Given the description of an element on the screen output the (x, y) to click on. 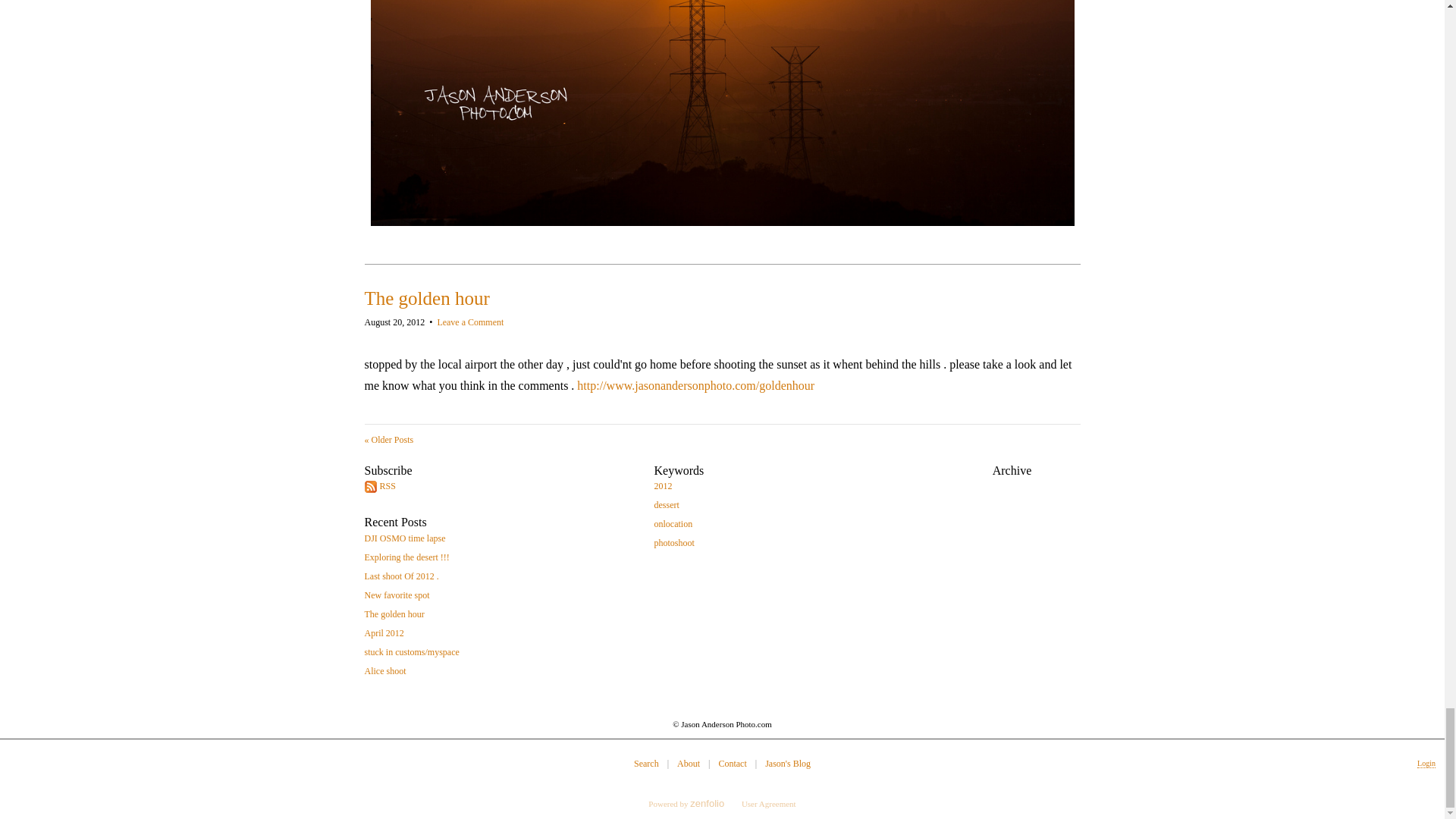
Leave a Comment (469, 321)
New favorite spot (503, 599)
The golden hour (426, 298)
DJI OSMO time lapse (503, 542)
Last shoot Of 2012 . (503, 579)
April 2012 (503, 637)
The golden hour (503, 618)
Exploring the desert !!! (503, 561)
RSS (503, 489)
